Given the description of an element on the screen output the (x, y) to click on. 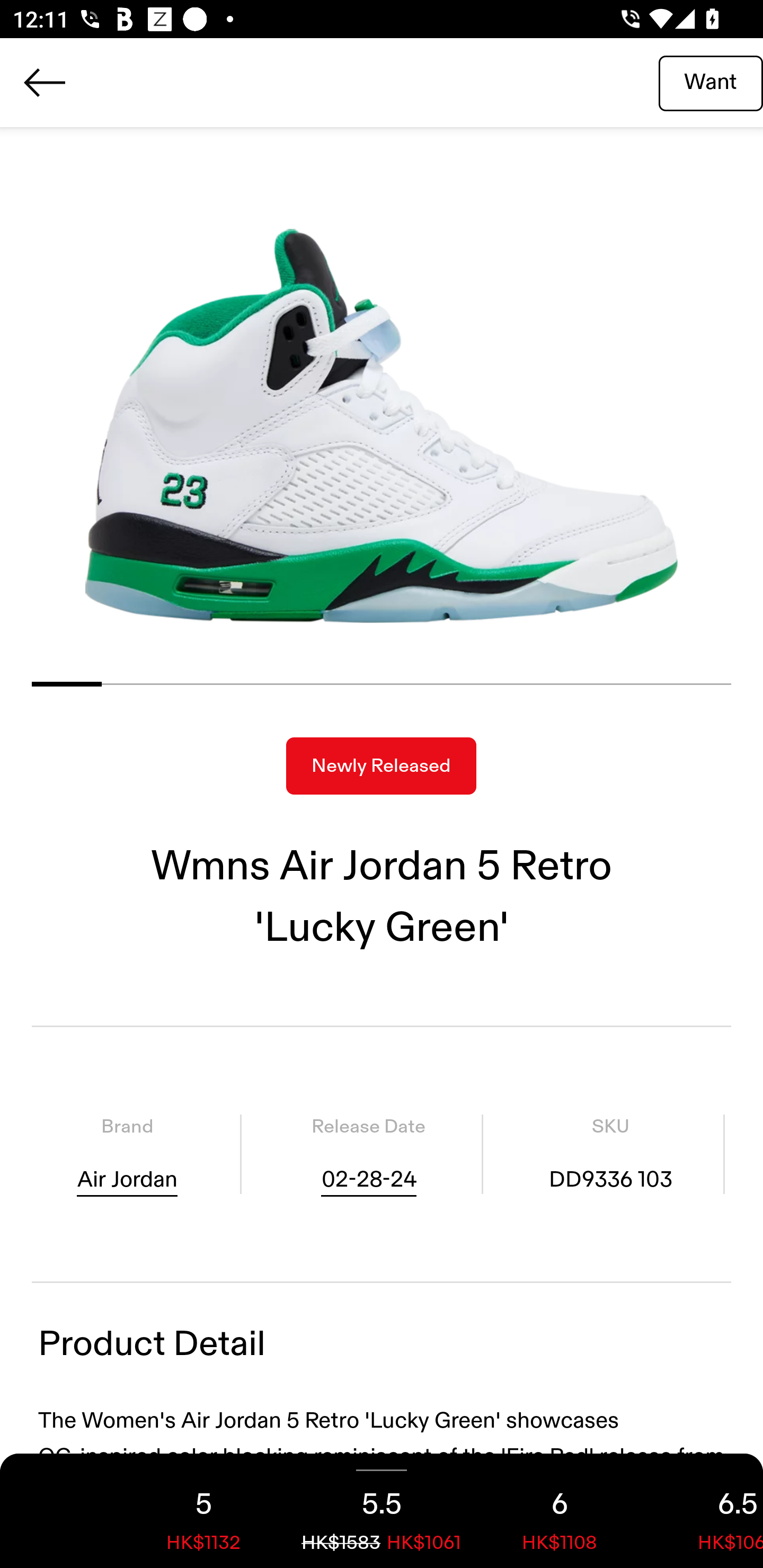
Want (710, 82)
Newly Released (381, 765)
Brand Air Jordan (126, 1153)
Release Date 02-28-24 (368, 1153)
SKU DD9336 103 (609, 1153)
5 HK$1132 (203, 1510)
5.5 HK$1583 HK$1061 (381, 1510)
6 HK$1108 (559, 1510)
6.5 HK$1068 (705, 1510)
